Given the description of an element on the screen output the (x, y) to click on. 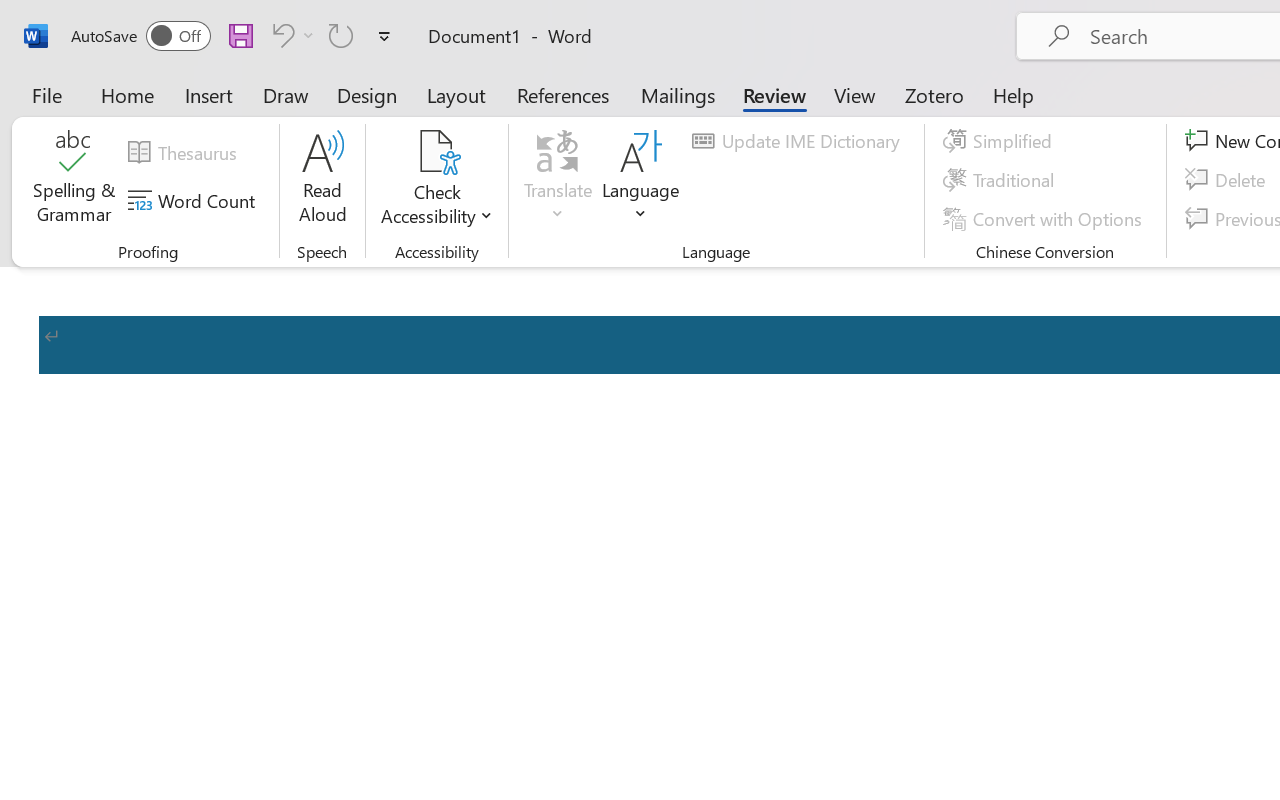
Check Accessibility (436, 151)
Thesaurus... (185, 153)
